Given the description of an element on the screen output the (x, y) to click on. 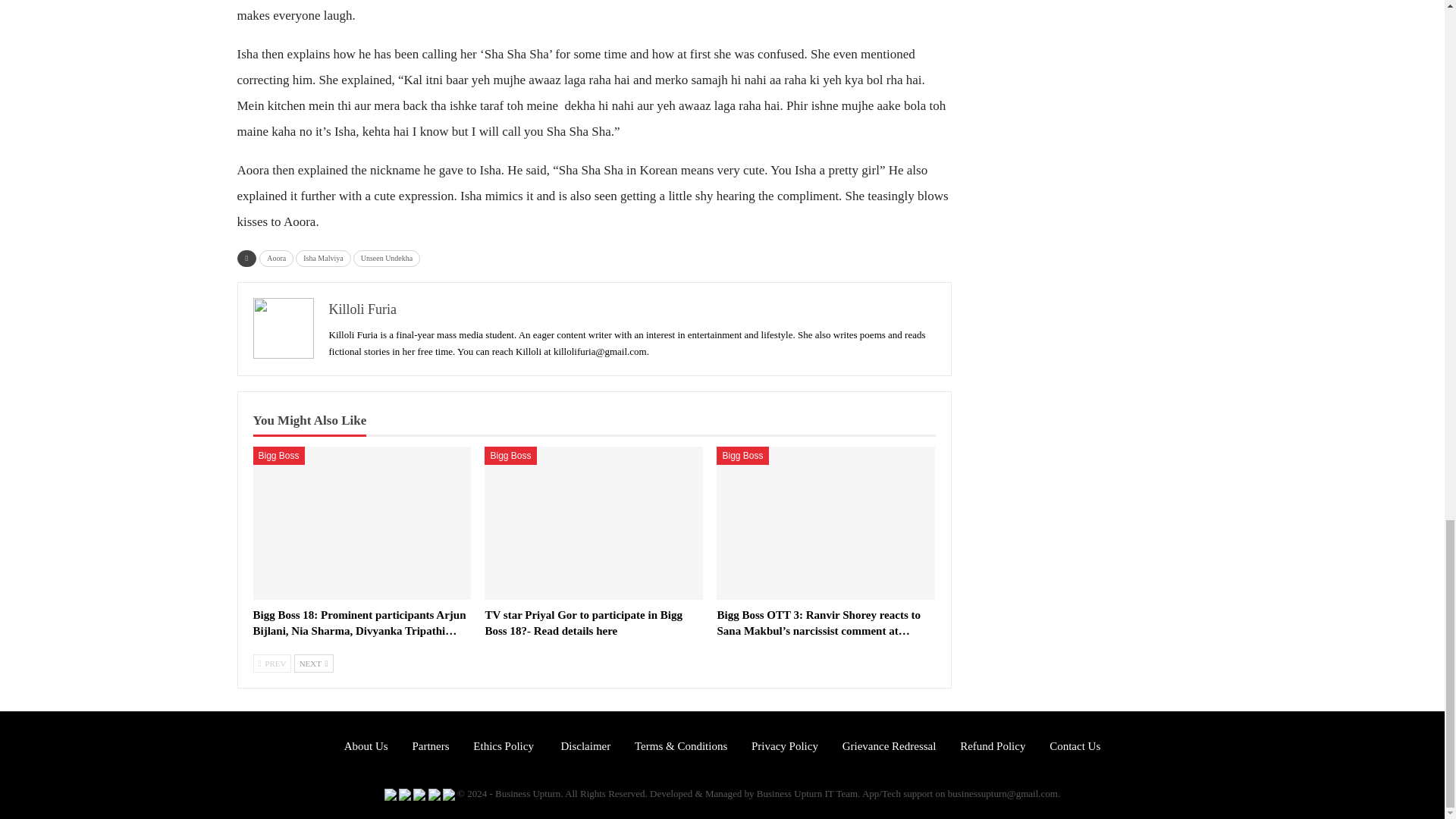
Previous (272, 662)
Next (313, 662)
